Given the description of an element on the screen output the (x, y) to click on. 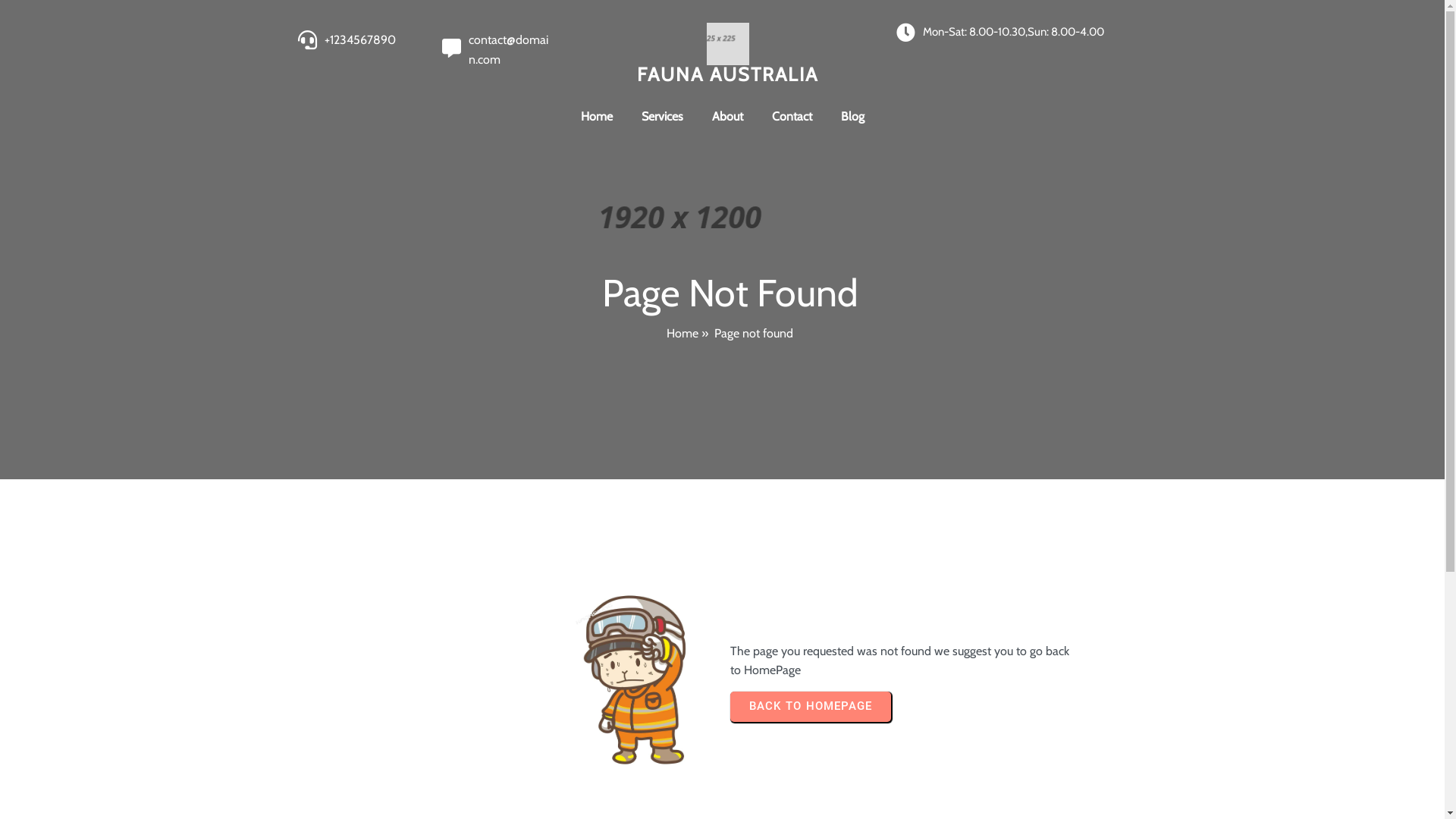
Home Element type: text (682, 333)
Home Element type: text (595, 116)
Services Element type: text (661, 116)
About Element type: text (727, 116)
BACK TO HOMEPAGE Element type: text (809, 706)
contact@domain.com Element type: text (508, 49)
+1234567890 Element type: text (359, 41)
download Element type: hover (727, 43)
Contact Element type: text (791, 116)
FAUNA AUSTRALIA Element type: text (727, 53)
Blog Element type: text (852, 116)
